Given the description of an element on the screen output the (x, y) to click on. 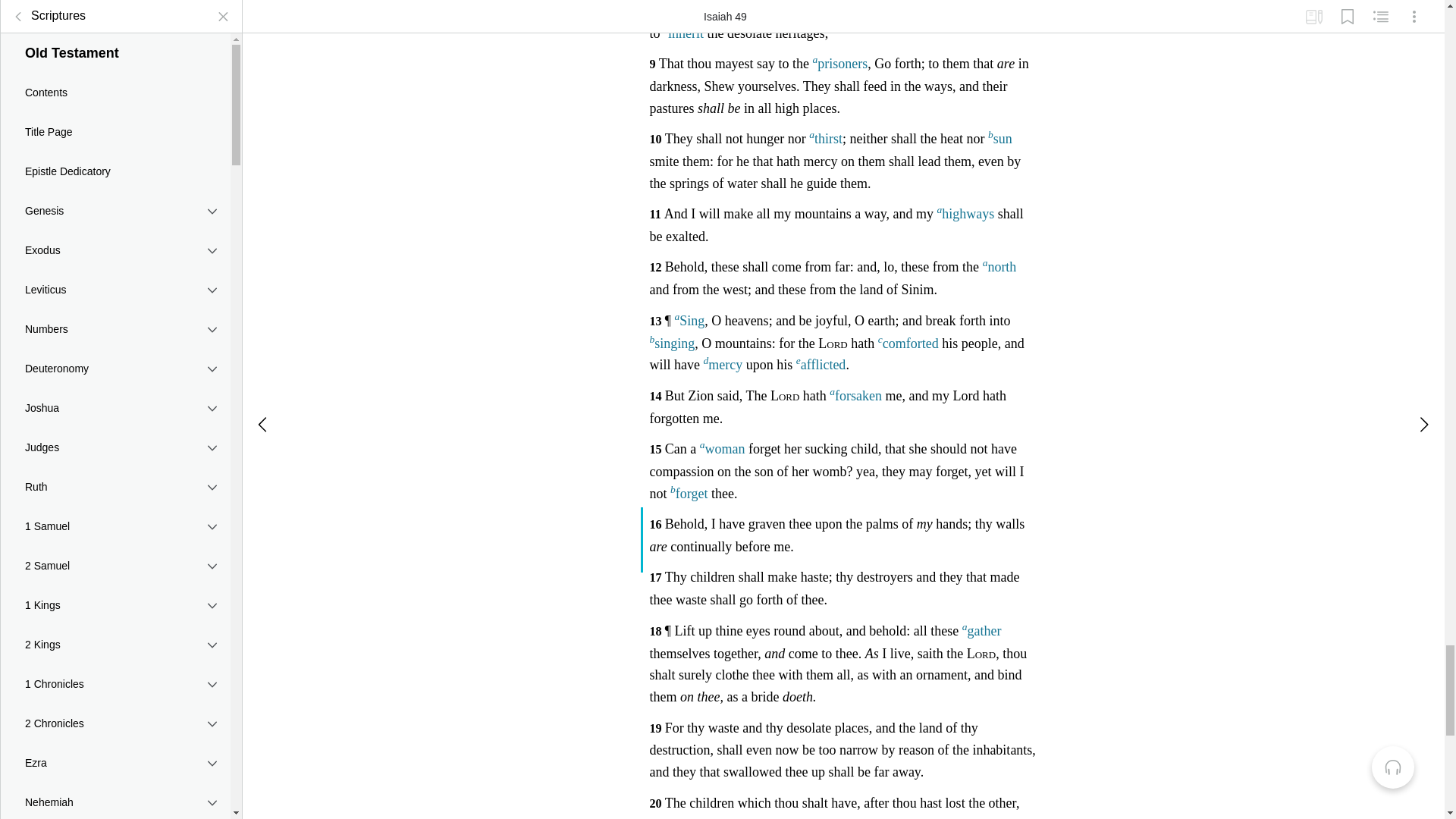
Esther (115, 15)
Ecclesiastes (115, 169)
Proverbs (115, 129)
Isaiah 2 (115, 335)
Song of Solomon (115, 208)
Isaiah 11 (115, 581)
Psalms (115, 89)
Isaiah 9 (115, 526)
Job (115, 50)
Contents (115, 280)
Isaiah 10 (115, 554)
Isaiah 7 (115, 472)
Isaiah 1 (115, 308)
Isaiah 5 (115, 417)
Isaiah 6 (115, 444)
